Given the description of an element on the screen output the (x, y) to click on. 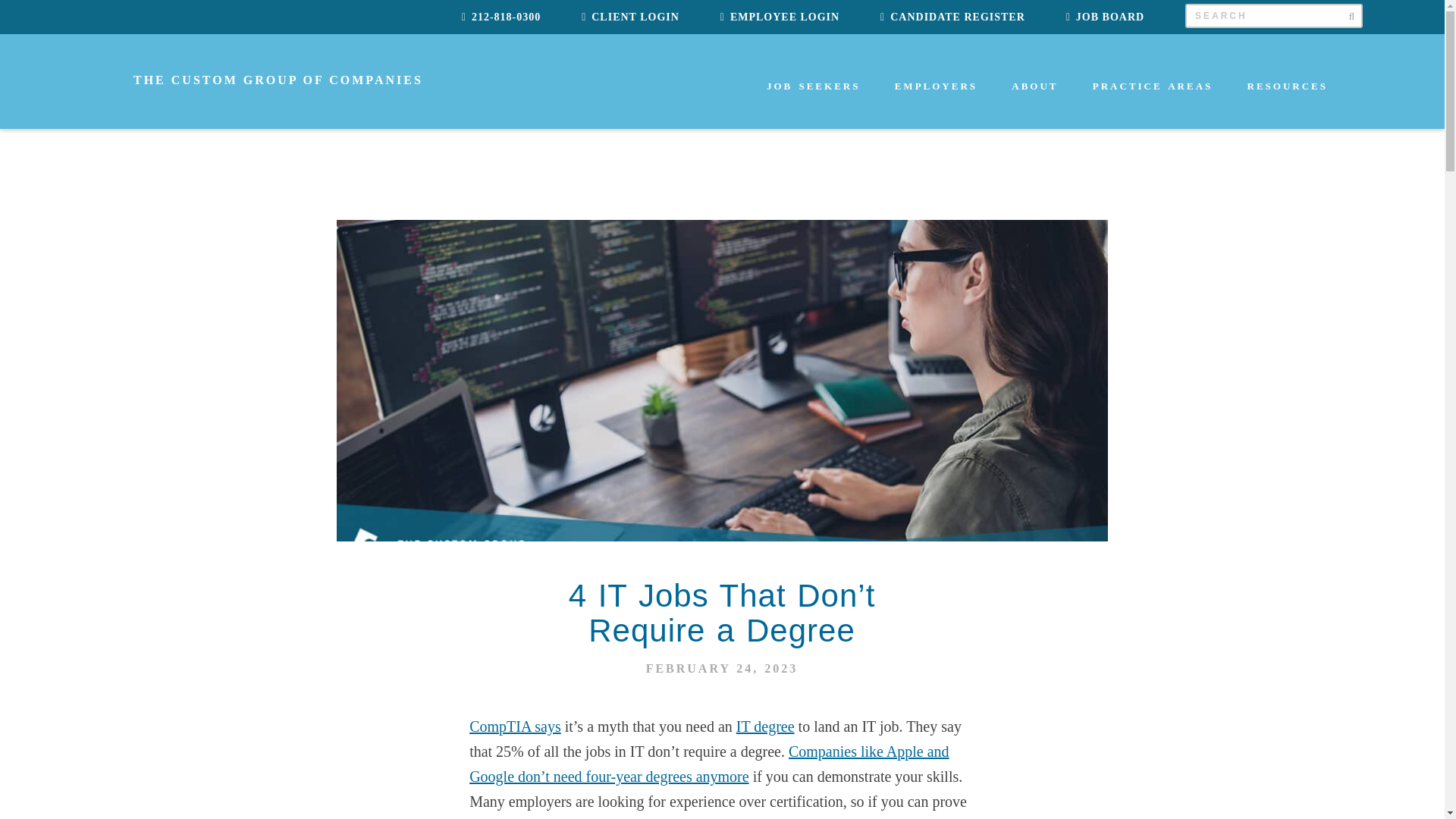
JOB SEEKERS (815, 106)
Enter the terms you wish to search for. (1273, 15)
EMPLOYERS (938, 106)
EMPLOYEE LOGIN (780, 17)
THE CUSTOM GROUP OF COMPANIES (252, 79)
212-818-0300 (500, 17)
ABOUT (1036, 106)
PRACTICE AREAS (1155, 106)
RESOURCES (1289, 106)
JOB BOARD (1104, 17)
